Given the description of an element on the screen output the (x, y) to click on. 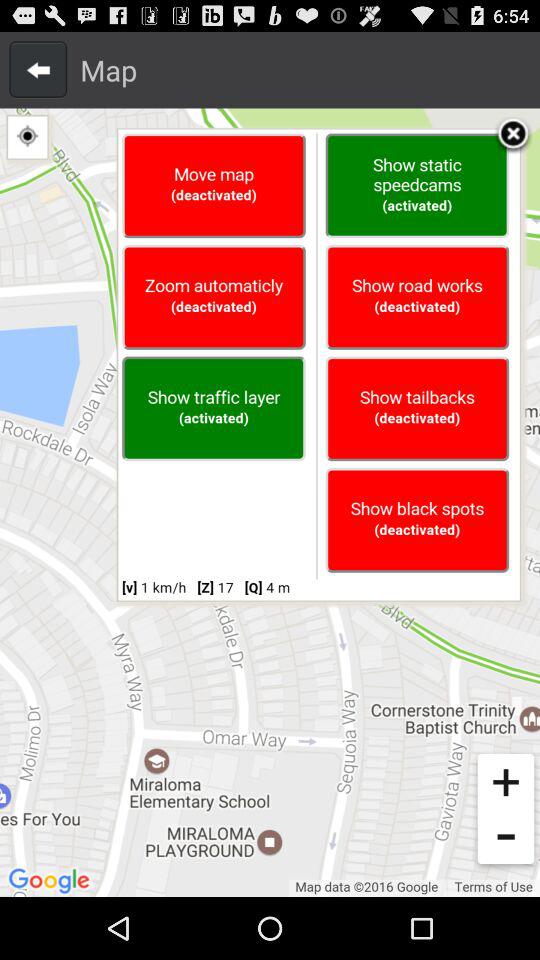
back (38, 69)
